Given the description of an element on the screen output the (x, y) to click on. 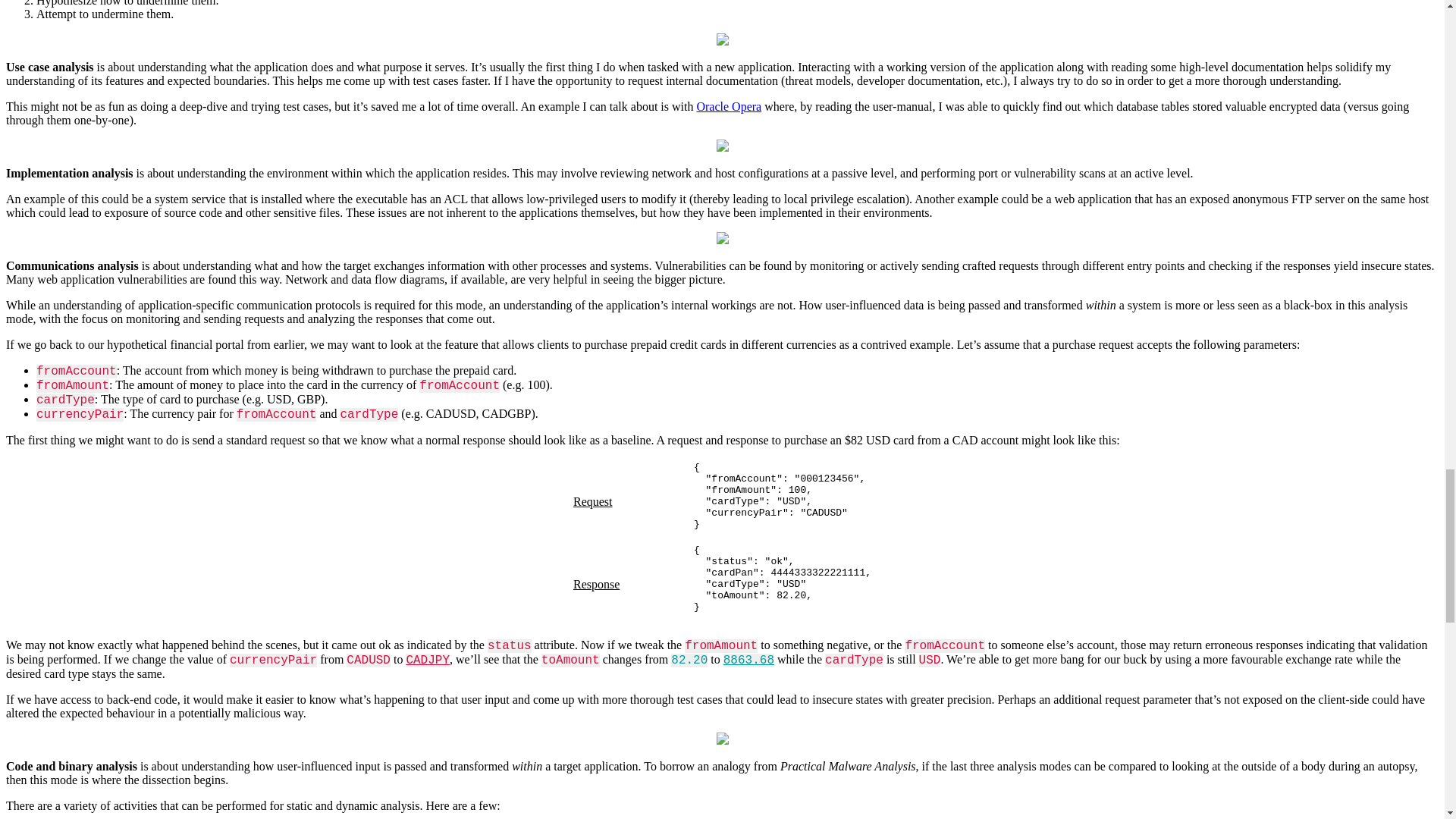
Oracle Opera (728, 106)
